Given the description of an element on the screen output the (x, y) to click on. 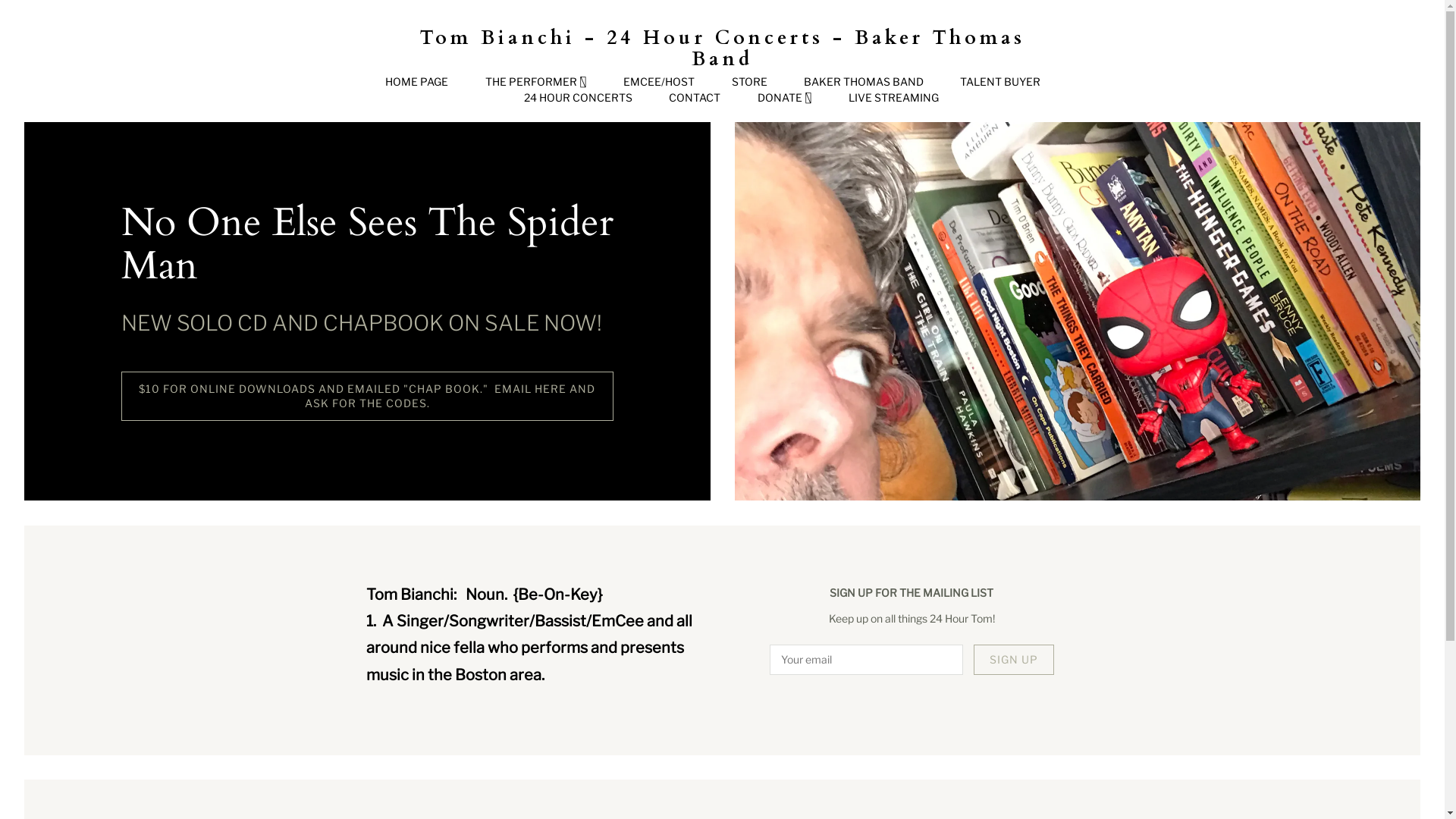
Tom Bianchi - 24 Hour Concerts - Baker Thomas Band Element type: text (722, 48)
LIVE STREAMING Element type: text (893, 97)
DONATE Element type: text (784, 97)
CONTACT Element type: text (694, 97)
SIGN UP Element type: text (1013, 659)
BAKER THOMAS BAND Element type: text (863, 81)
HOME PAGE Element type: text (416, 81)
THE PERFORMER Element type: text (535, 81)
TALENT BUYER Element type: text (1000, 81)
EMCEE/HOST Element type: text (658, 81)
STORE Element type: text (749, 81)
24 HOUR CONCERTS Element type: text (578, 97)
